Given the description of an element on the screen output the (x, y) to click on. 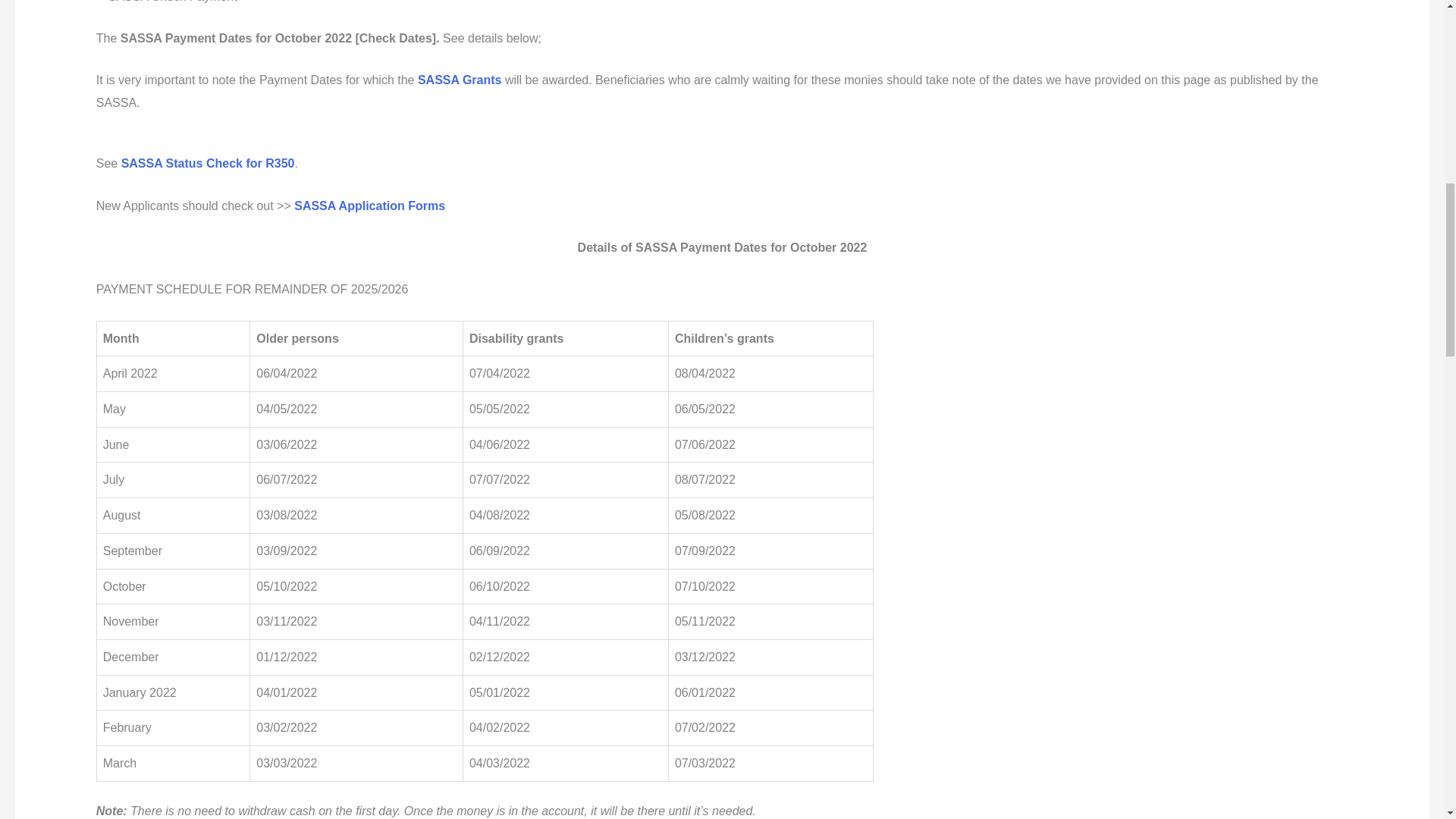
SASSA Grants (459, 79)
SASSA Application Forms (369, 205)
SASSA Status Check for R350 (207, 163)
